Given the description of an element on the screen output the (x, y) to click on. 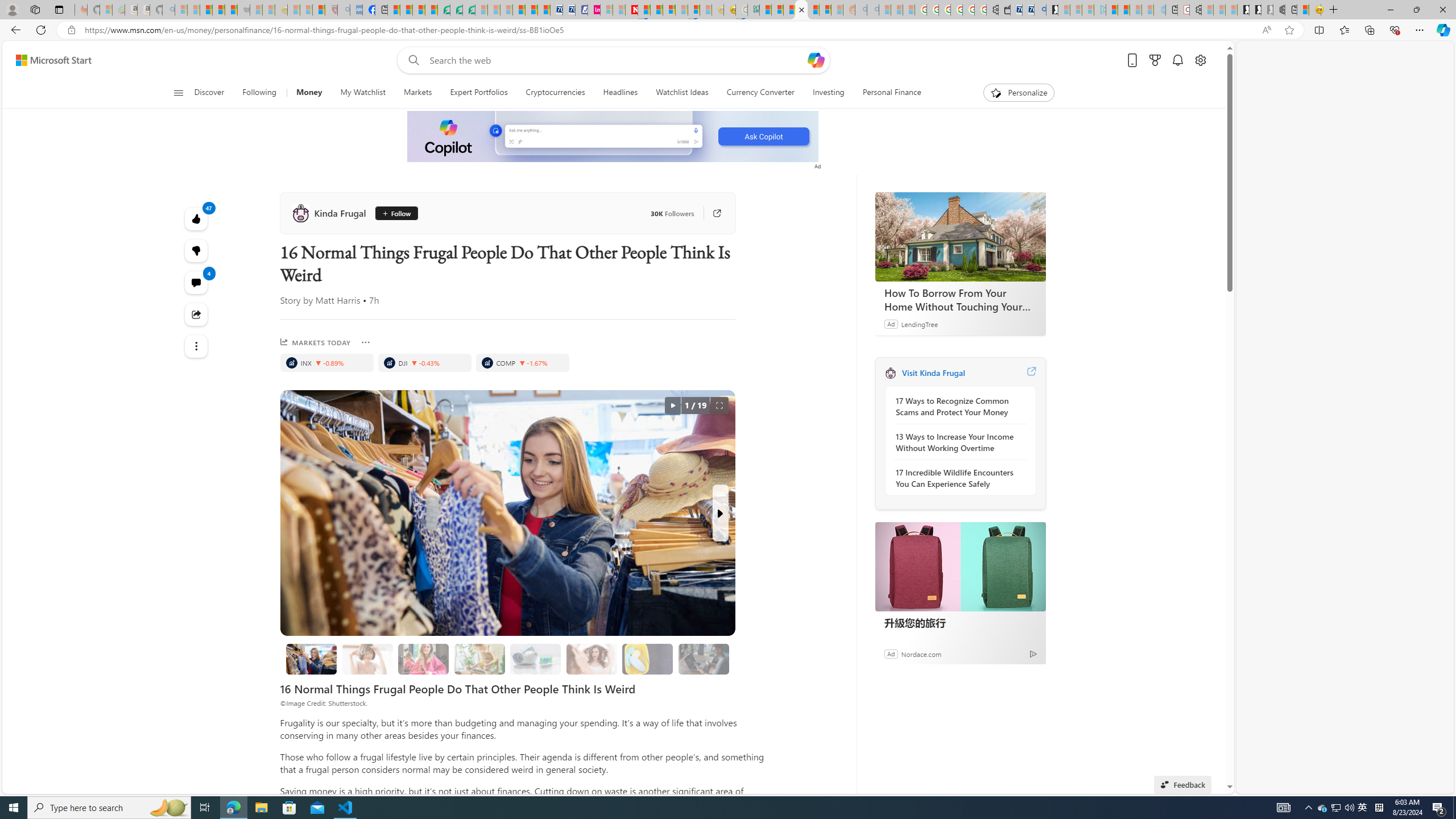
Expert Portfolios (478, 92)
7. Not Upgrading Phones (703, 659)
Price decrease (521, 362)
2. Donating Hair (423, 658)
Terms of Use Agreement (456, 9)
Latest Politics News & Archive | Newsweek.com (631, 9)
Visit Kinda Frugal website (1031, 372)
